Given the description of an element on the screen output the (x, y) to click on. 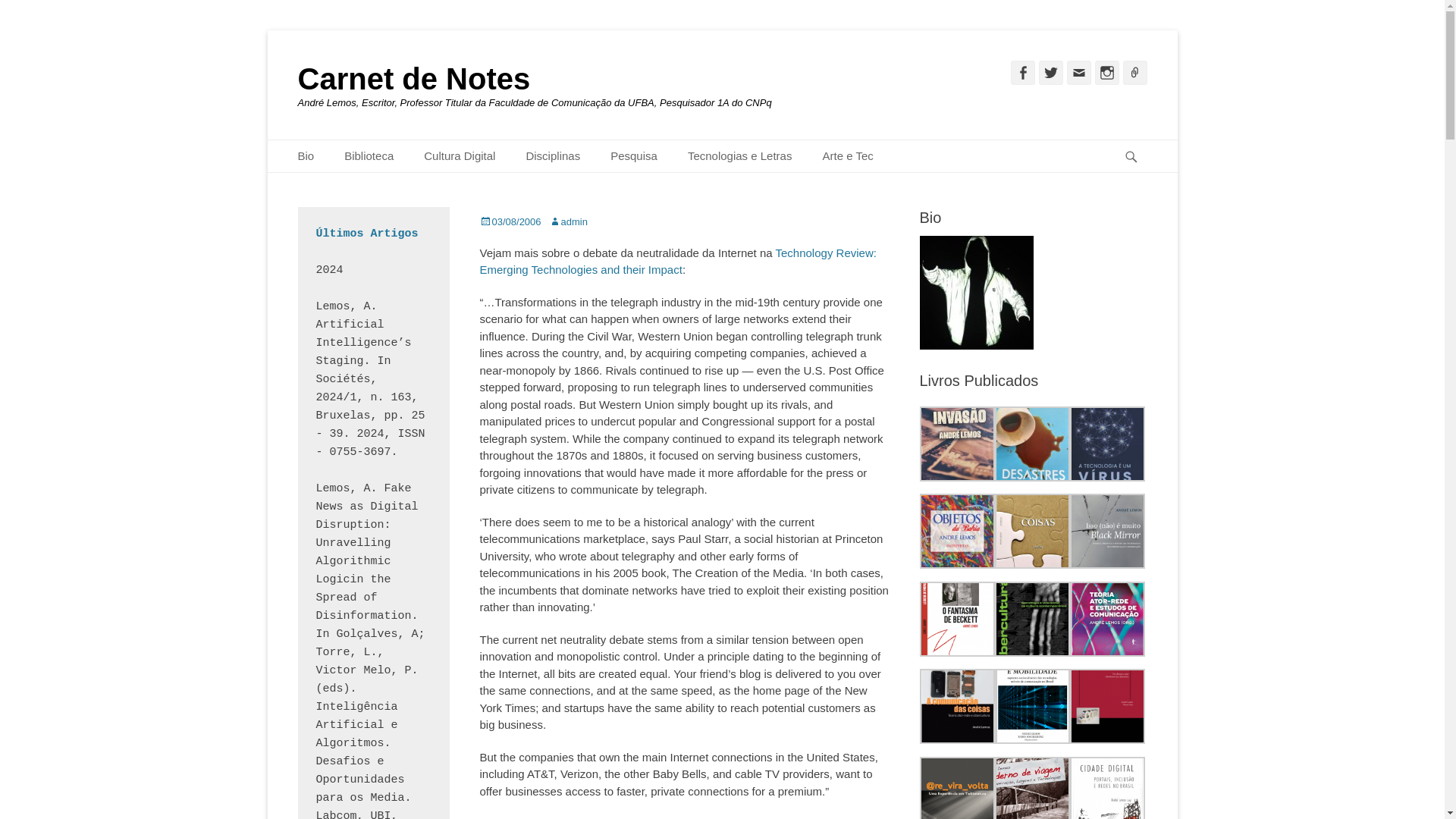
Facebook (1021, 72)
Tecnologias e Letras (740, 156)
Instagram (1106, 72)
Carnet de Notes (413, 78)
Biblioteca (369, 156)
Email (1077, 72)
Disciplinas (553, 156)
admin (568, 221)
Arte e Tec (847, 156)
Cultura Digital (460, 156)
Twitter (1050, 72)
Instagram (1106, 72)
Facebook (1021, 72)
Pesquisa (633, 156)
